Given the description of an element on the screen output the (x, y) to click on. 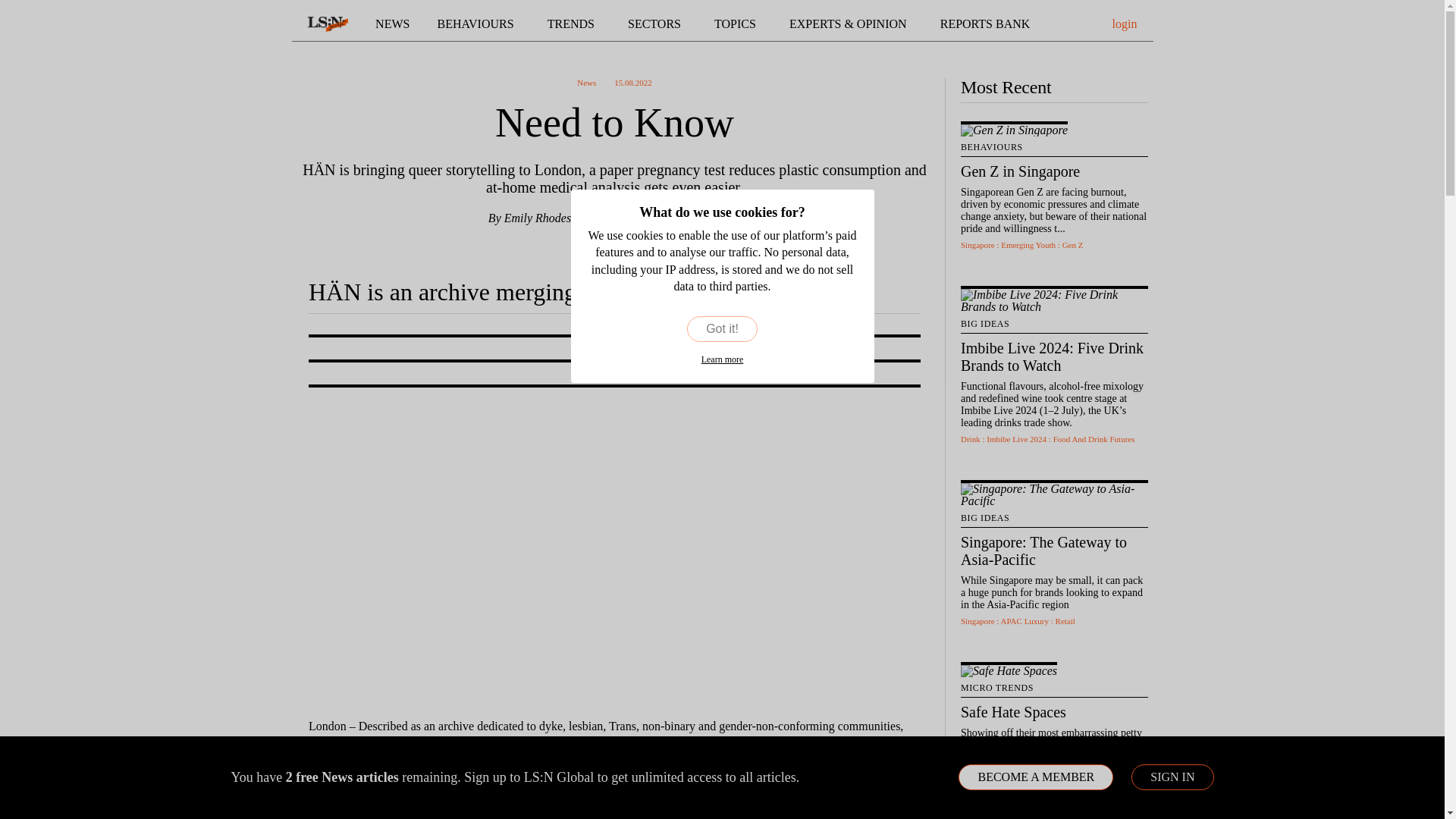
NEWS (392, 24)
TRENDS (573, 24)
Behaviours (478, 24)
Trends (573, 24)
BEHAVIOURS (478, 24)
News (392, 24)
LS:N Global (327, 24)
